Given the description of an element on the screen output the (x, y) to click on. 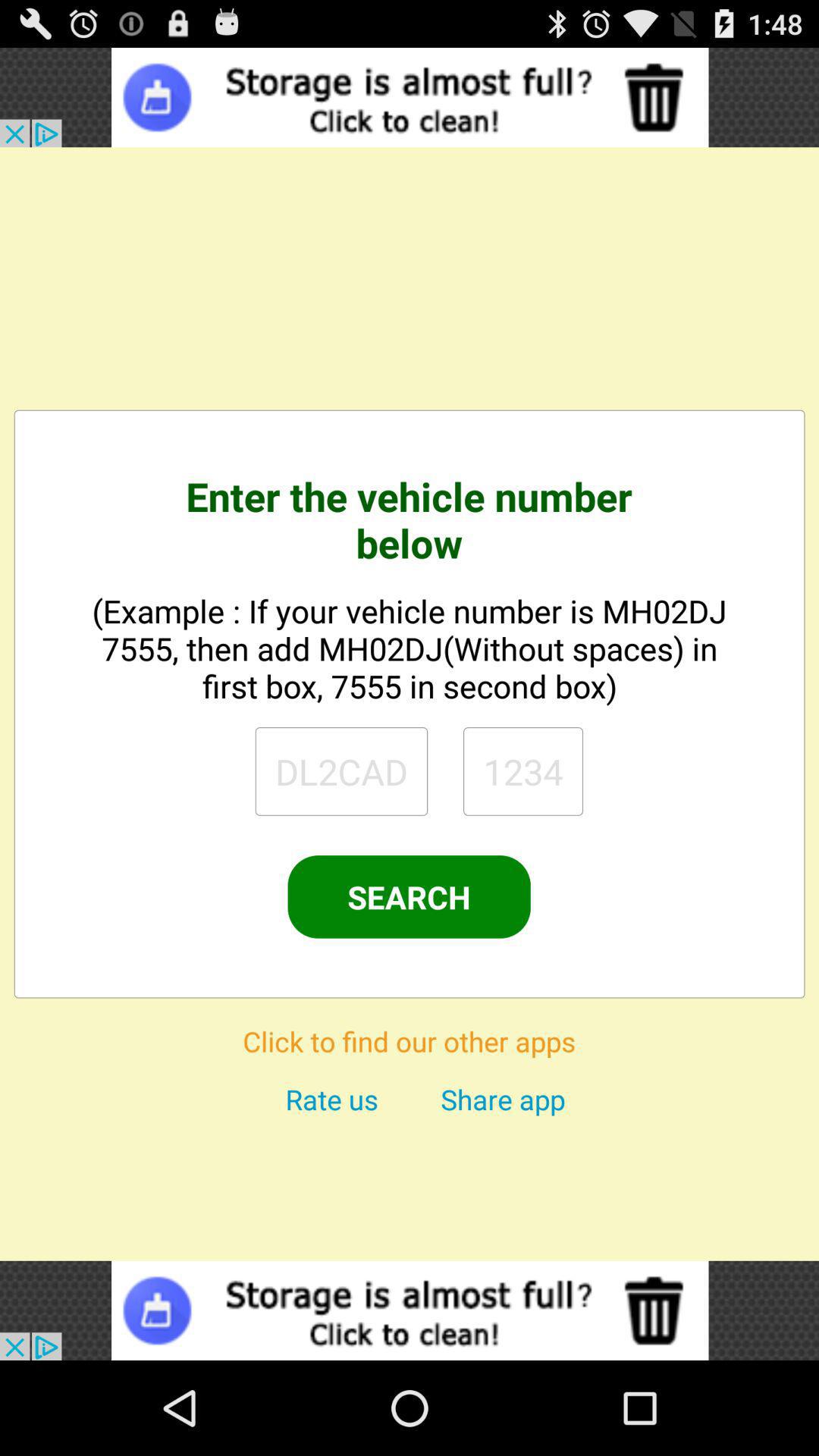
advertisement link (409, 97)
